Given the description of an element on the screen output the (x, y) to click on. 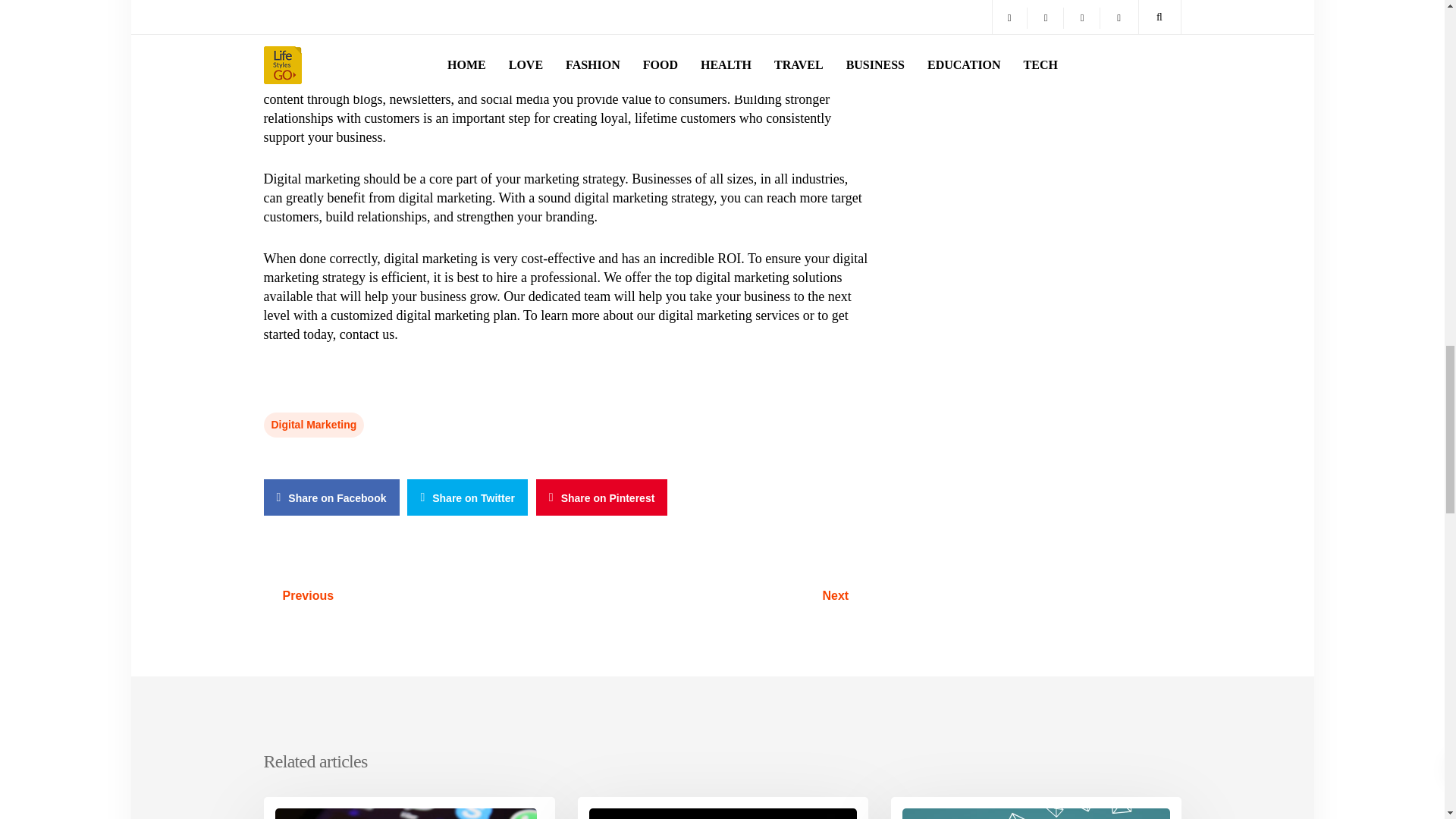
Previous (308, 595)
Share on Pinterest (601, 497)
Share on Twitter (467, 497)
Share on Facebook (330, 497)
Next (835, 595)
Digital Marketing (314, 424)
